Given the description of an element on the screen output the (x, y) to click on. 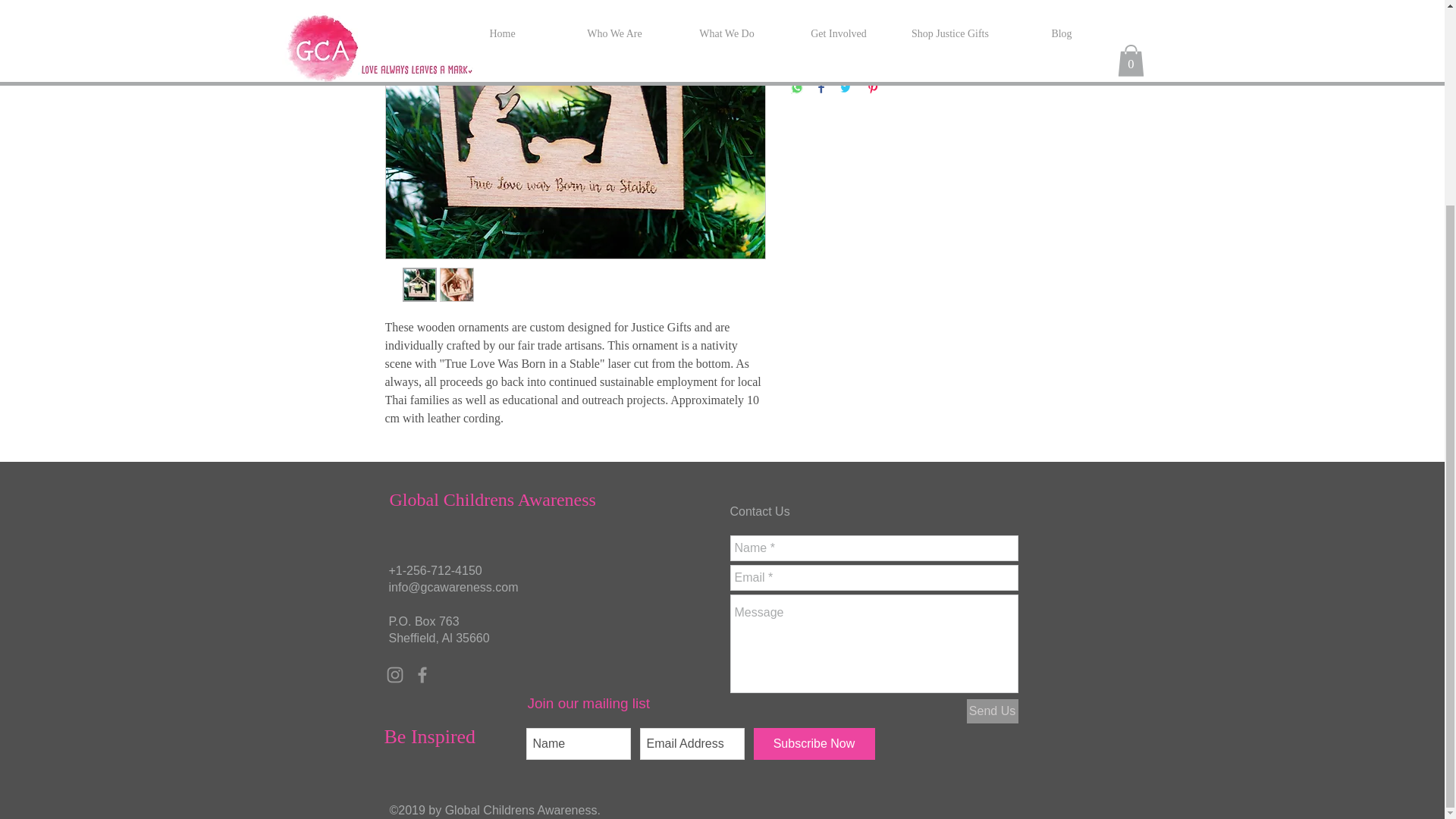
Send Us (991, 711)
Add to Cart (924, 33)
Subscribe Now (814, 744)
